Given the description of an element on the screen output the (x, y) to click on. 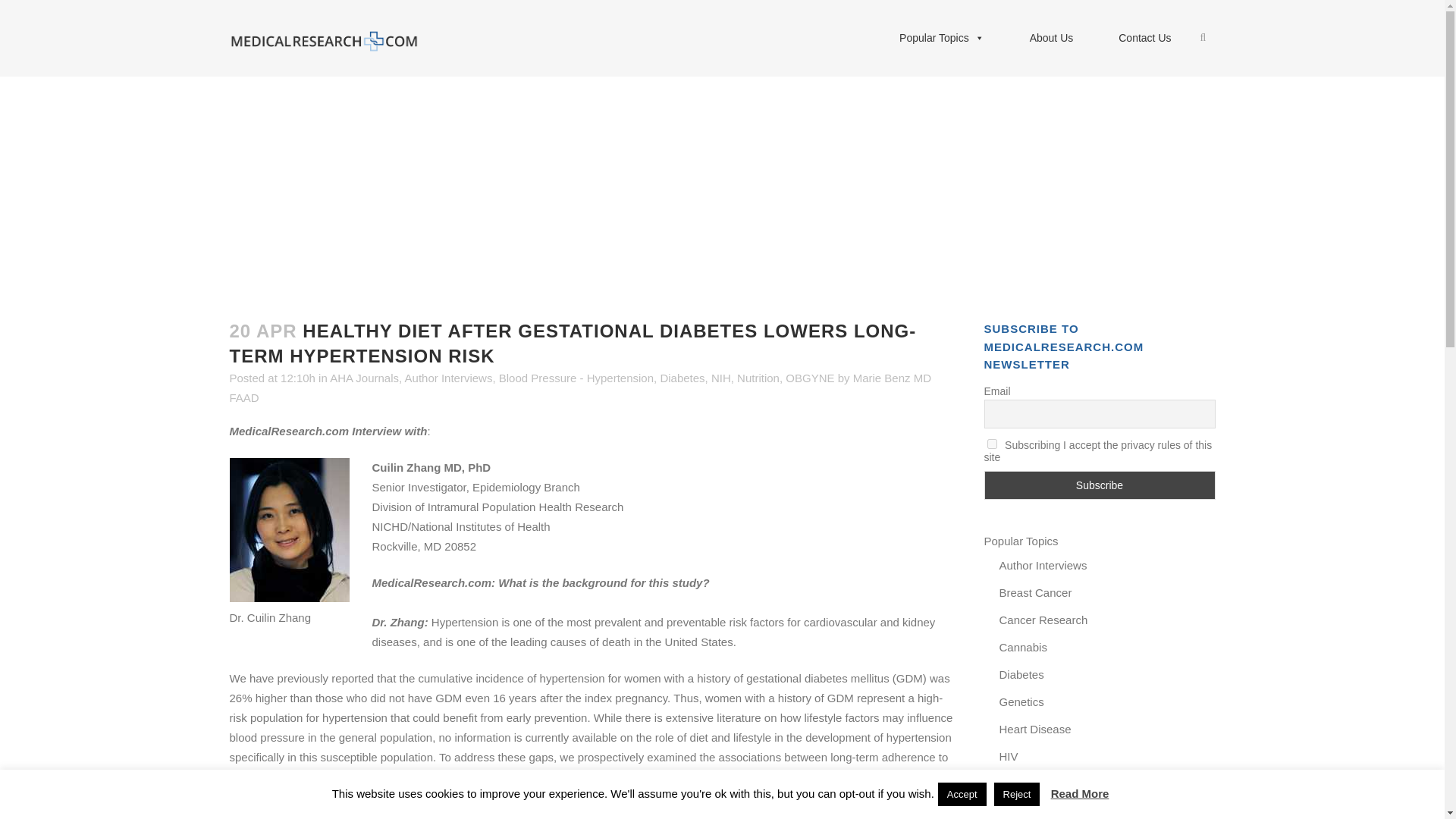
Popular Topics (941, 37)
on (992, 443)
Contact Us (1144, 37)
About Us (1051, 37)
Subscribe (1099, 484)
